Given the description of an element on the screen output the (x, y) to click on. 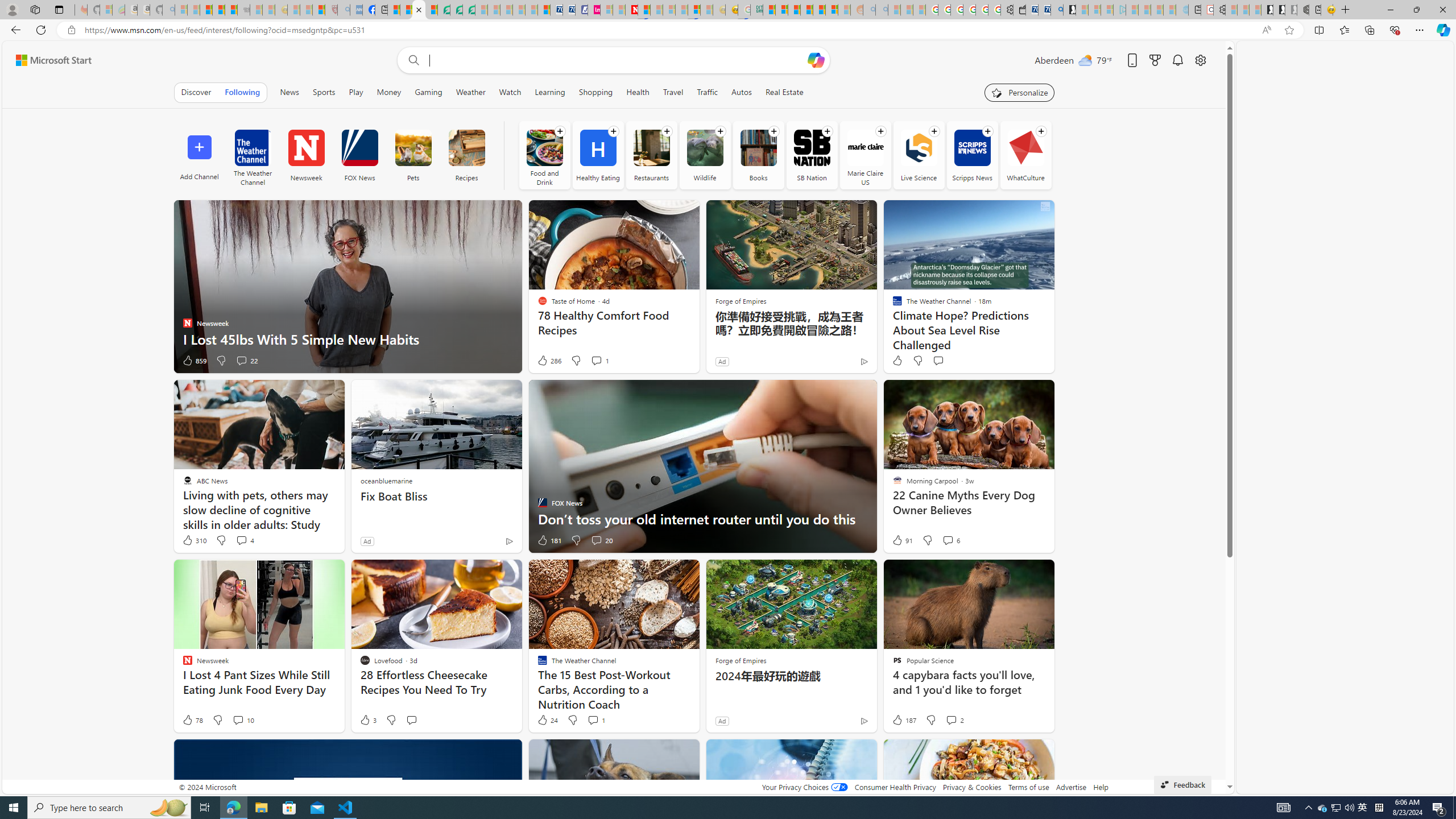
Pets (413, 155)
Live Science (918, 147)
View comments 22 Comment (246, 360)
Scripps News (971, 147)
Wildlife (704, 147)
